Given the description of an element on the screen output the (x, y) to click on. 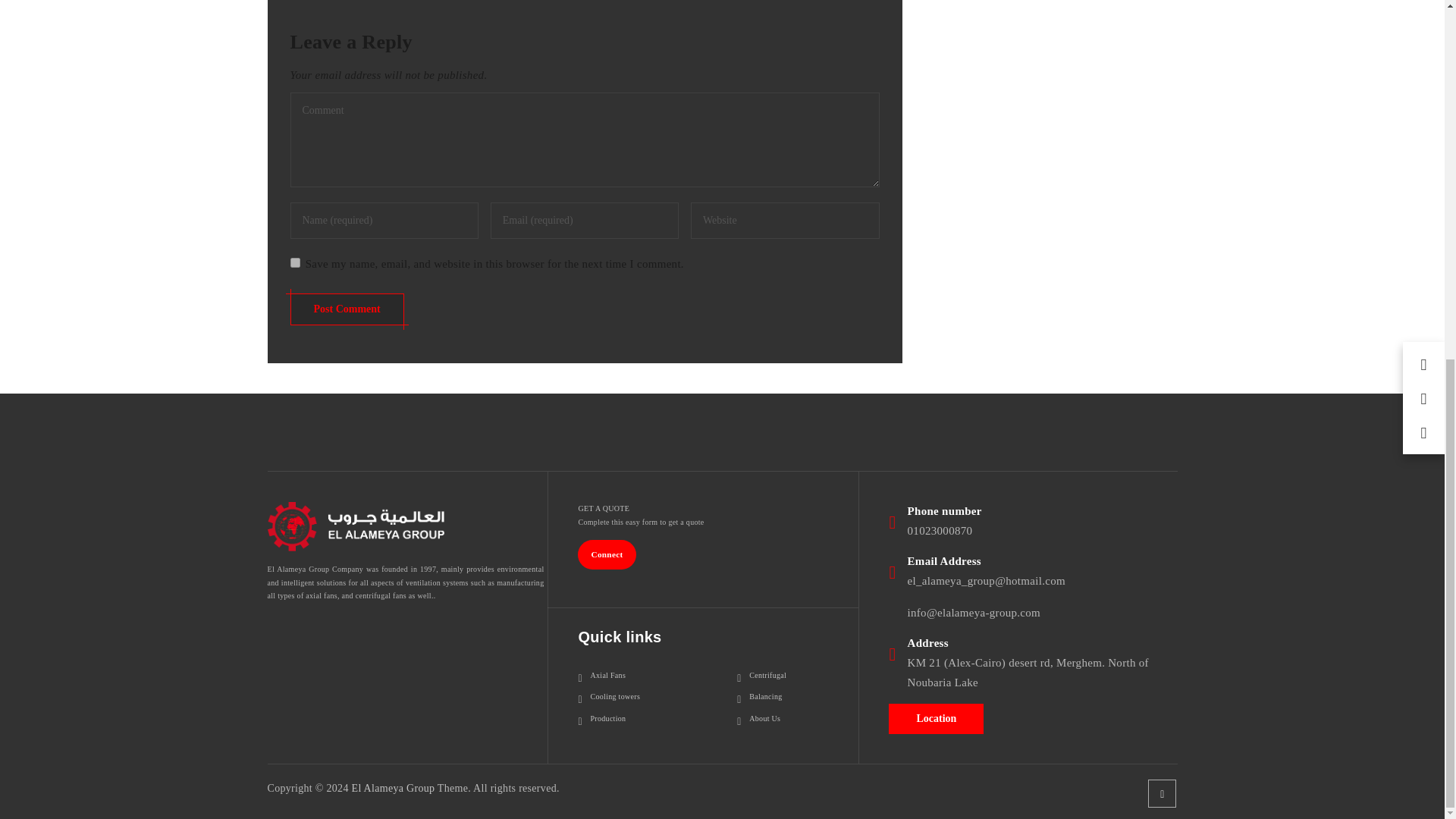
Production (602, 718)
yes (294, 262)
Axial Fans (602, 675)
Centrifugal (761, 675)
About Us (758, 718)
Connect (606, 554)
Cooling towers (609, 696)
El Alameya Group (393, 787)
Location (935, 717)
Location (936, 718)
Balancing (758, 696)
Post Comment (346, 308)
Post Comment (346, 308)
